Given the description of an element on the screen output the (x, y) to click on. 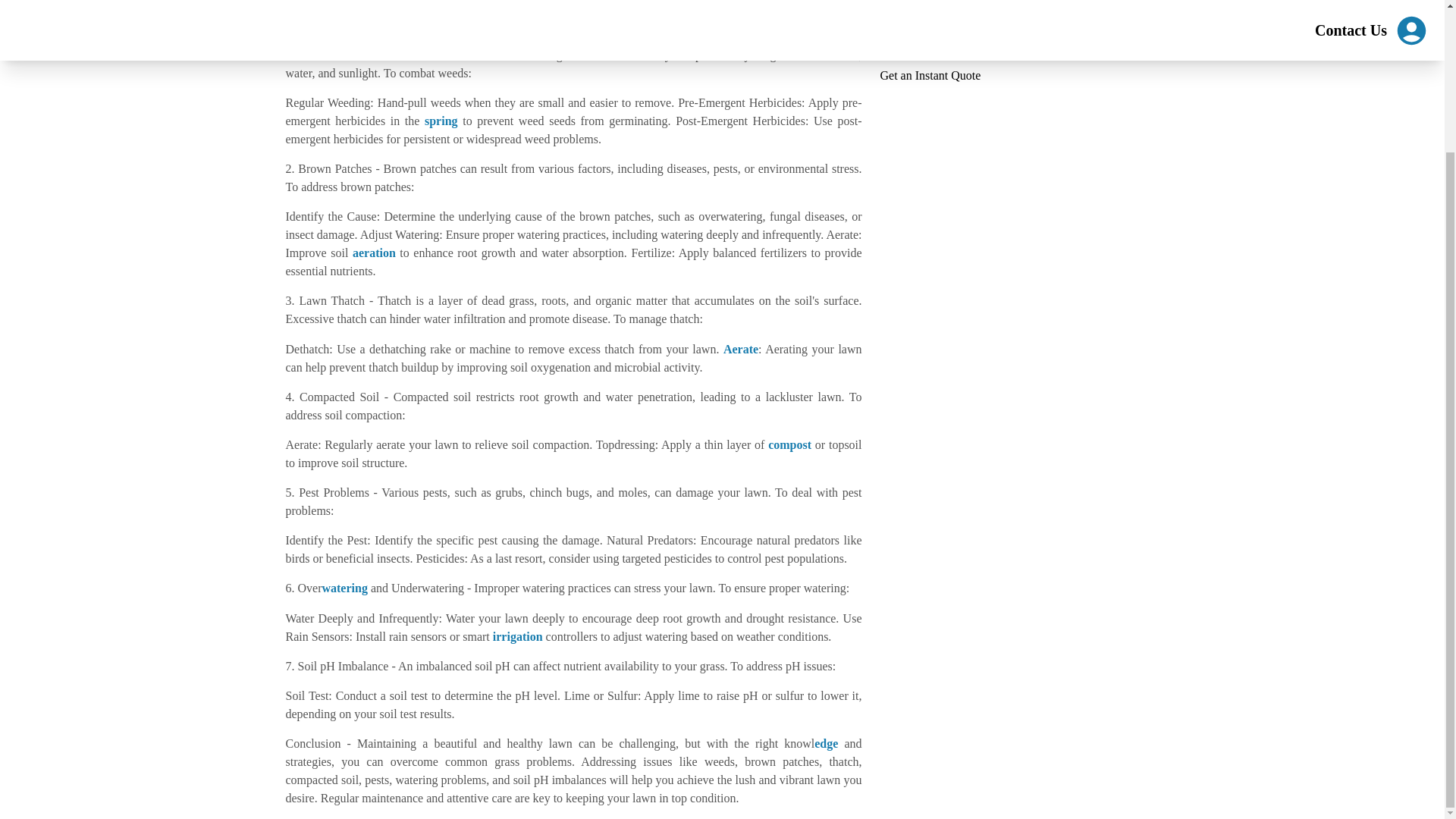
compost (789, 444)
aeration (374, 252)
watering (343, 587)
lawn care (614, 54)
irrigation (518, 635)
edge (825, 743)
weeds (378, 6)
Get an Instant Quote (929, 75)
Aerate (740, 348)
spring (441, 120)
Get an Instant Quote (929, 74)
